Given the description of an element on the screen output the (x, y) to click on. 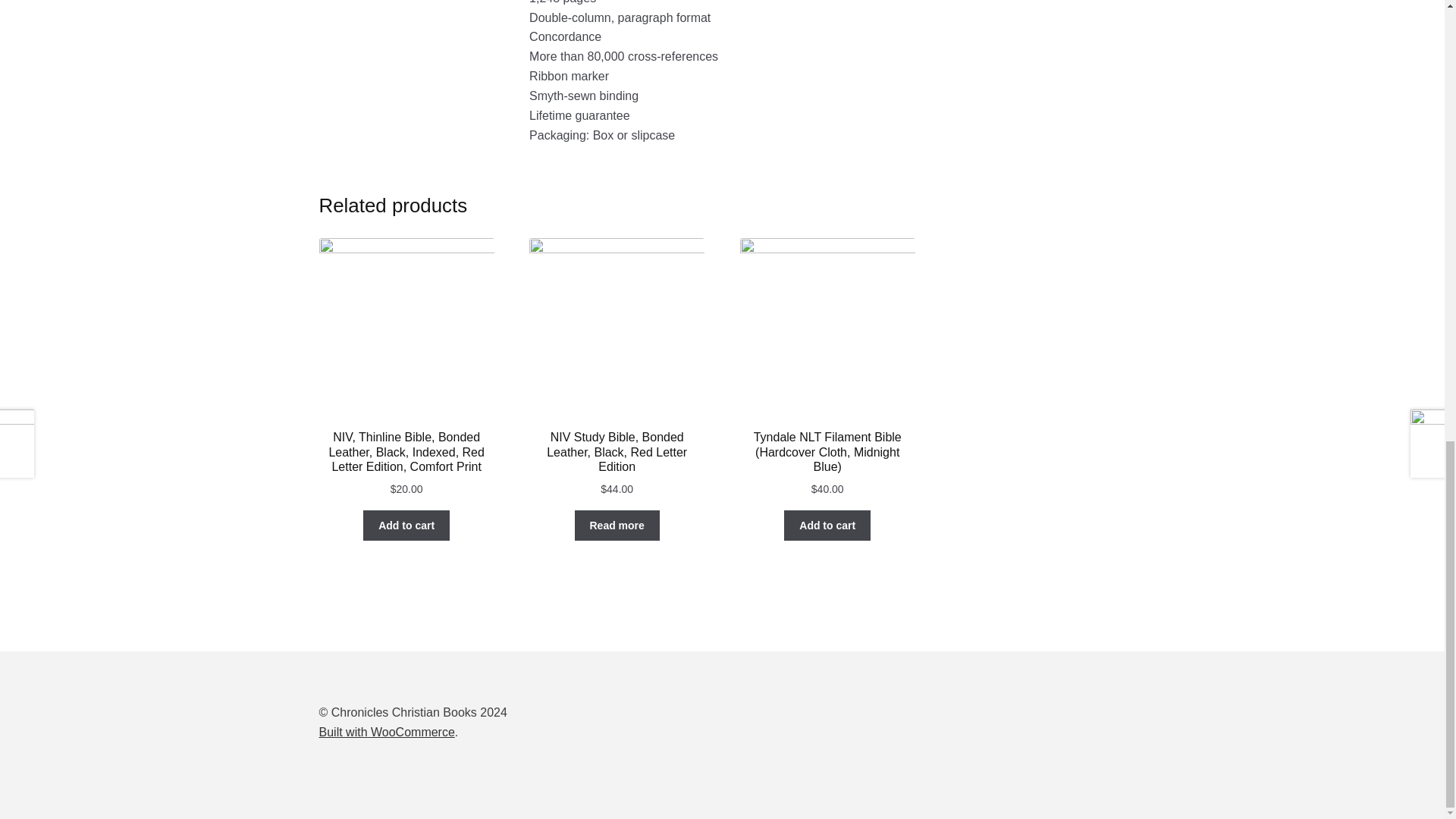
Add to cart (405, 525)
Add to cart (827, 525)
Read more (617, 525)
WooCommerce - The Best eCommerce Platform for WordPress (386, 731)
